Given the description of an element on the screen output the (x, y) to click on. 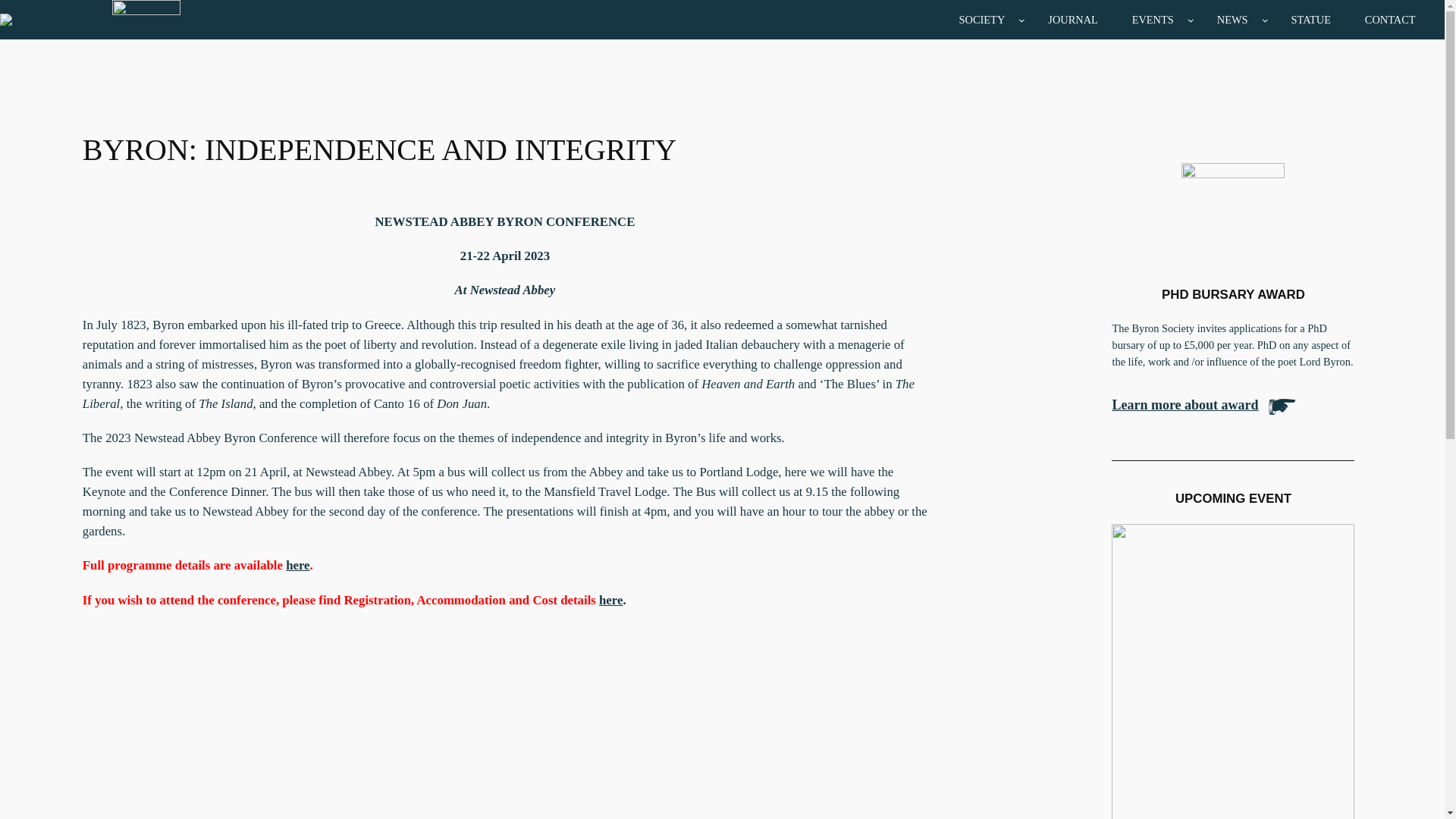
Learn more about award (1184, 405)
NEWS (1232, 18)
CONTACT (1390, 18)
STATUE (1309, 18)
EVENTS (1153, 18)
SOCIETY (981, 18)
here (610, 599)
JOURNAL (1072, 18)
here (296, 564)
